Given the description of an element on the screen output the (x, y) to click on. 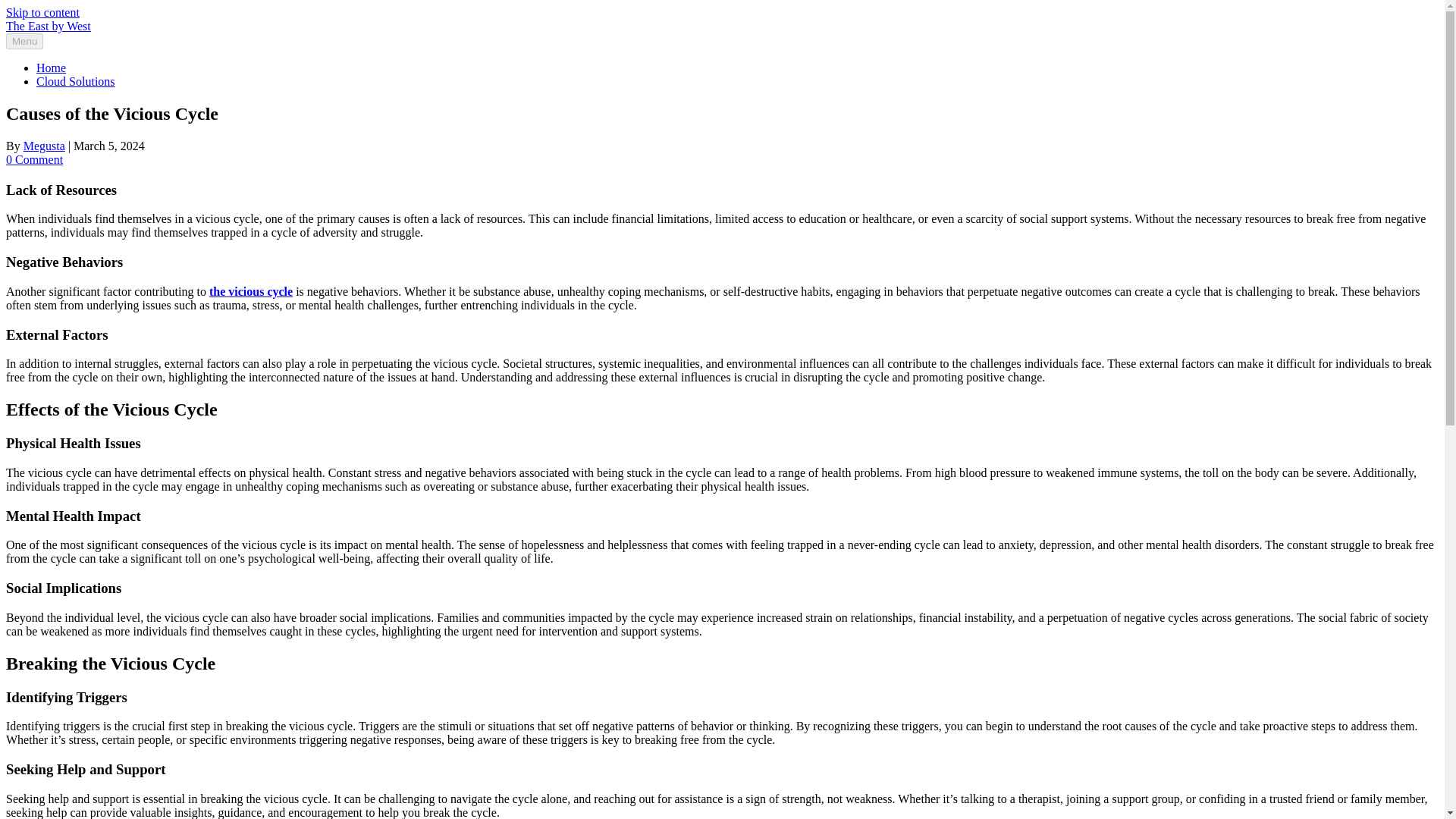
Skip to content (42, 11)
Home (50, 67)
the vicious cycle (250, 291)
The East by West (47, 25)
Skip to content (42, 11)
Cloud Solutions (75, 81)
0 Comment (33, 159)
The East by West (47, 25)
Menu (24, 41)
Posts by Megusta (44, 145)
